Given the description of an element on the screen output the (x, y) to click on. 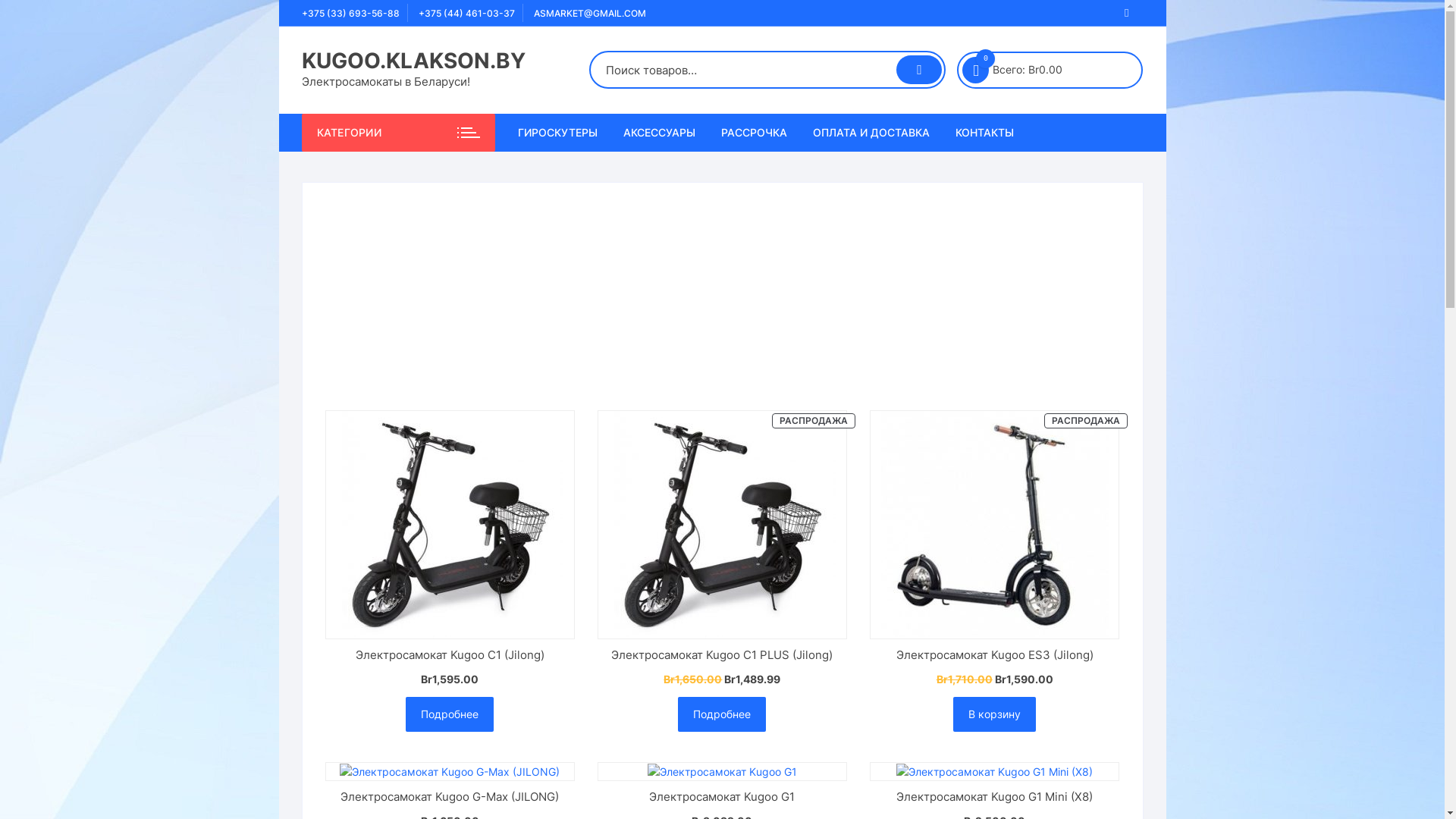
+375 (44) 461-03-37 Element type: text (466, 12)
KUGOO.KLAKSON.BY Element type: text (413, 60)
0 Element type: text (975, 69)
ASMARKET@GMAIL.COM Element type: text (589, 12)
+375 (33) 693-56-88 Element type: text (350, 12)
